Given the description of an element on the screen output the (x, y) to click on. 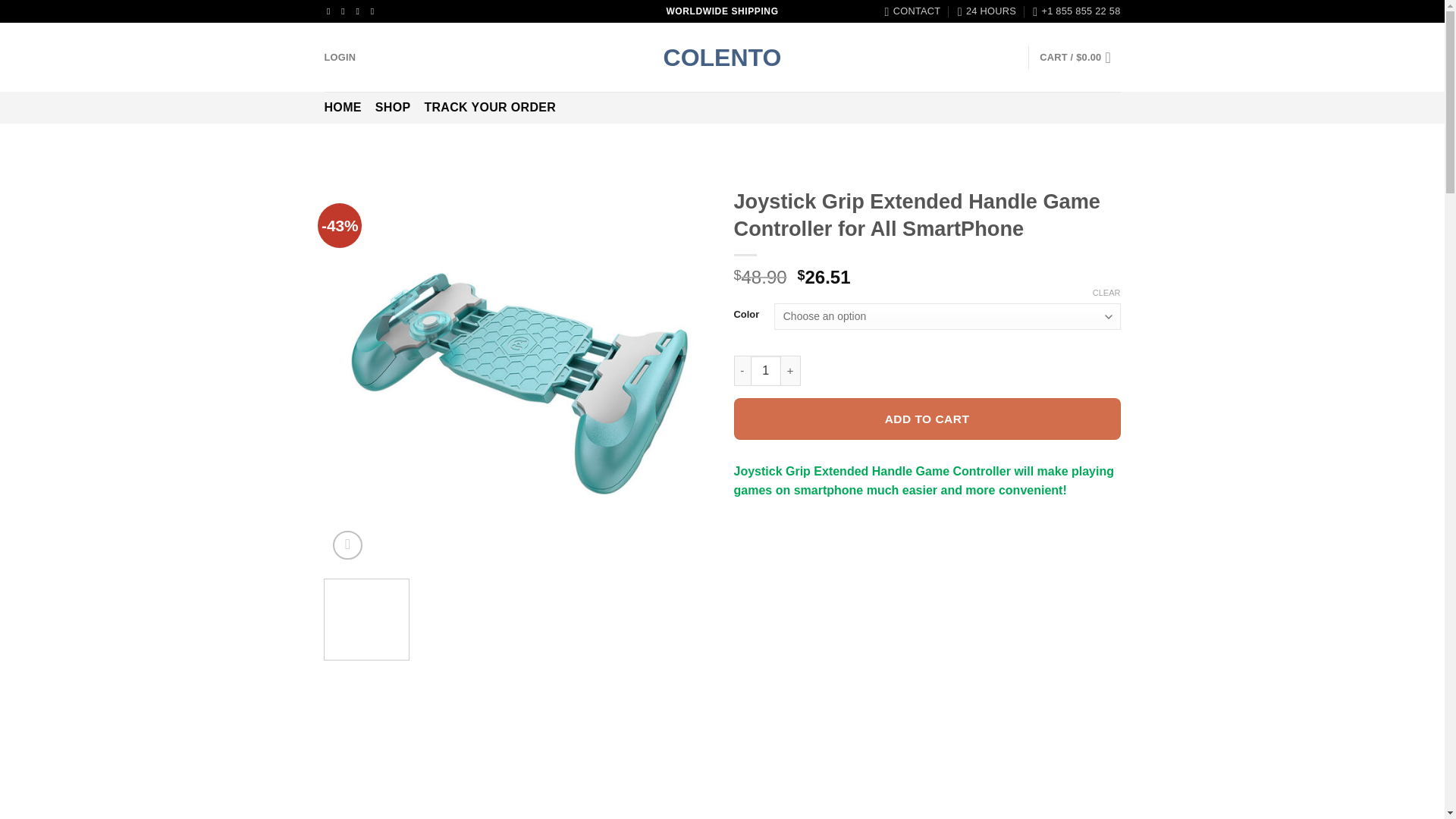
24 Hours  (987, 11)
ADD TO CART (927, 418)
HOME (342, 107)
SHOP (392, 107)
Cart (1079, 57)
Login (340, 57)
Zoom (347, 545)
24 HOURS (987, 11)
LOGIN (340, 57)
CLEAR (1107, 292)
Colento - Smart Shop Center (721, 57)
1 (765, 370)
TRACK YOUR ORDER (489, 107)
COLENTO (721, 57)
CONTACT (912, 11)
